Given the description of an element on the screen output the (x, y) to click on. 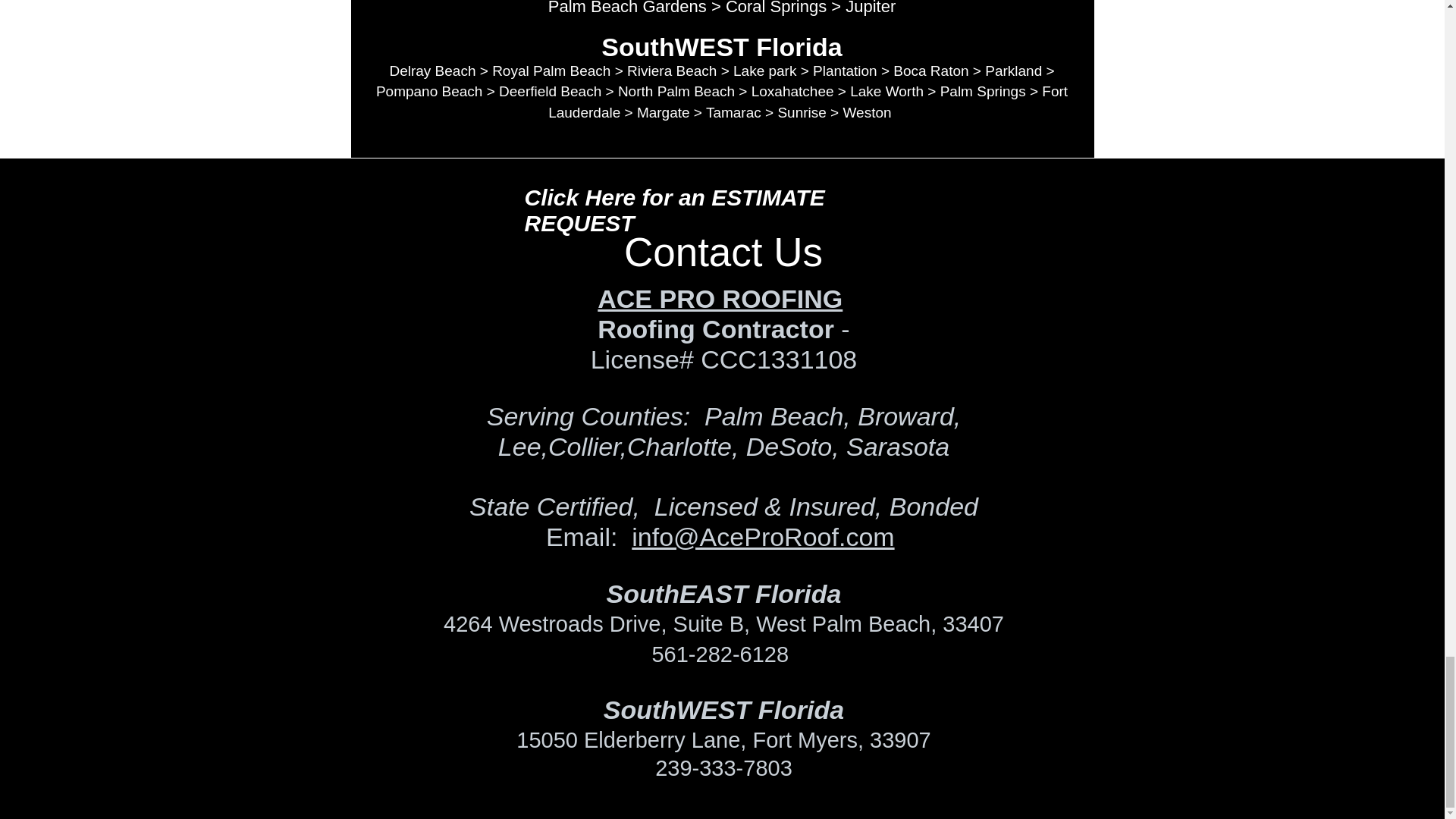
Click Here for an ESTIMATE REQUEST (674, 210)
